Given the description of an element on the screen output the (x, y) to click on. 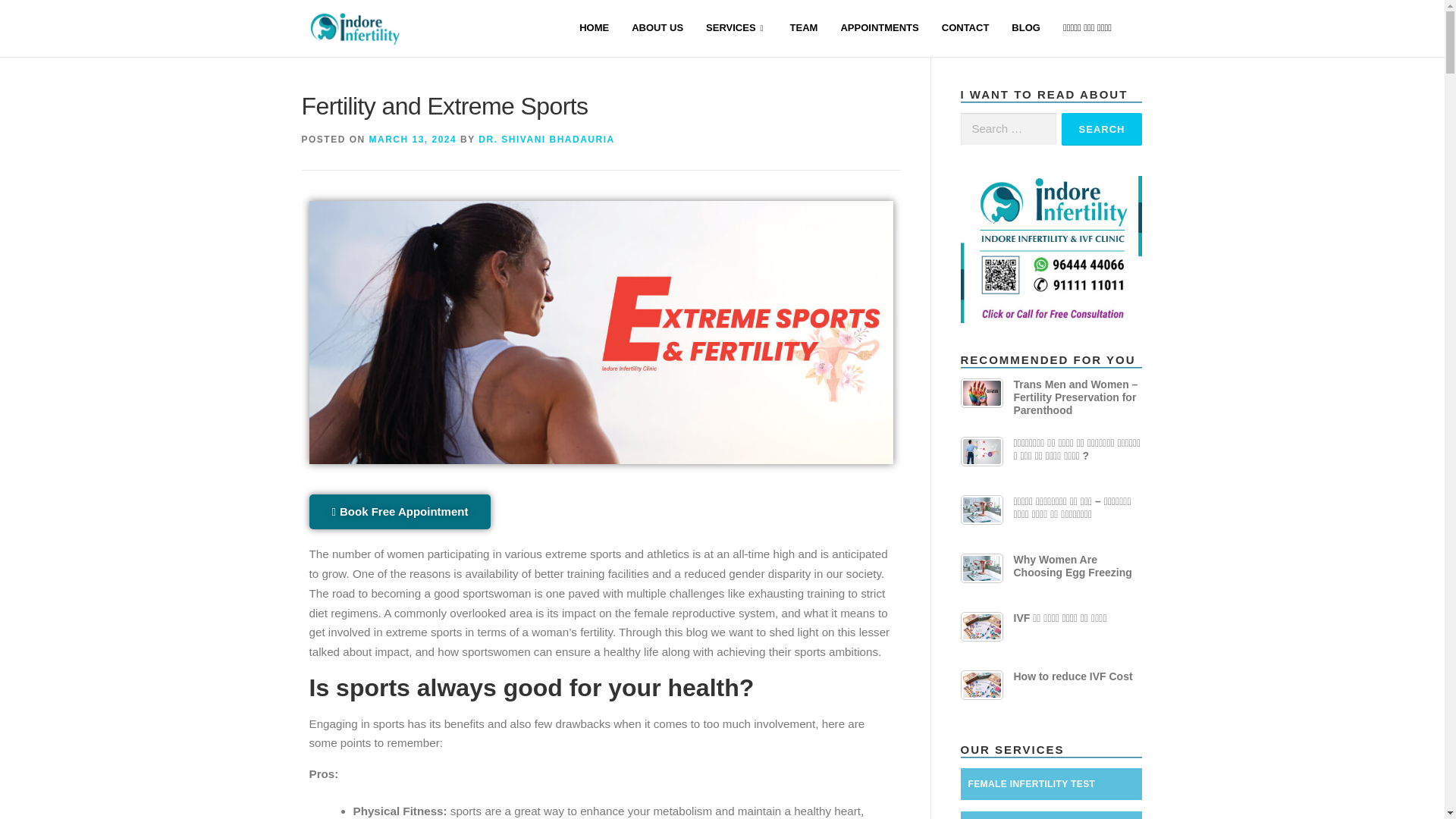
CONTACT (965, 28)
BLOG (1025, 28)
HOME (593, 28)
SERVICES (736, 28)
APPOINTMENTS (879, 28)
Search (1101, 129)
Search (1101, 129)
ABOUT US (657, 28)
TEAM (803, 28)
